Given the description of an element on the screen output the (x, y) to click on. 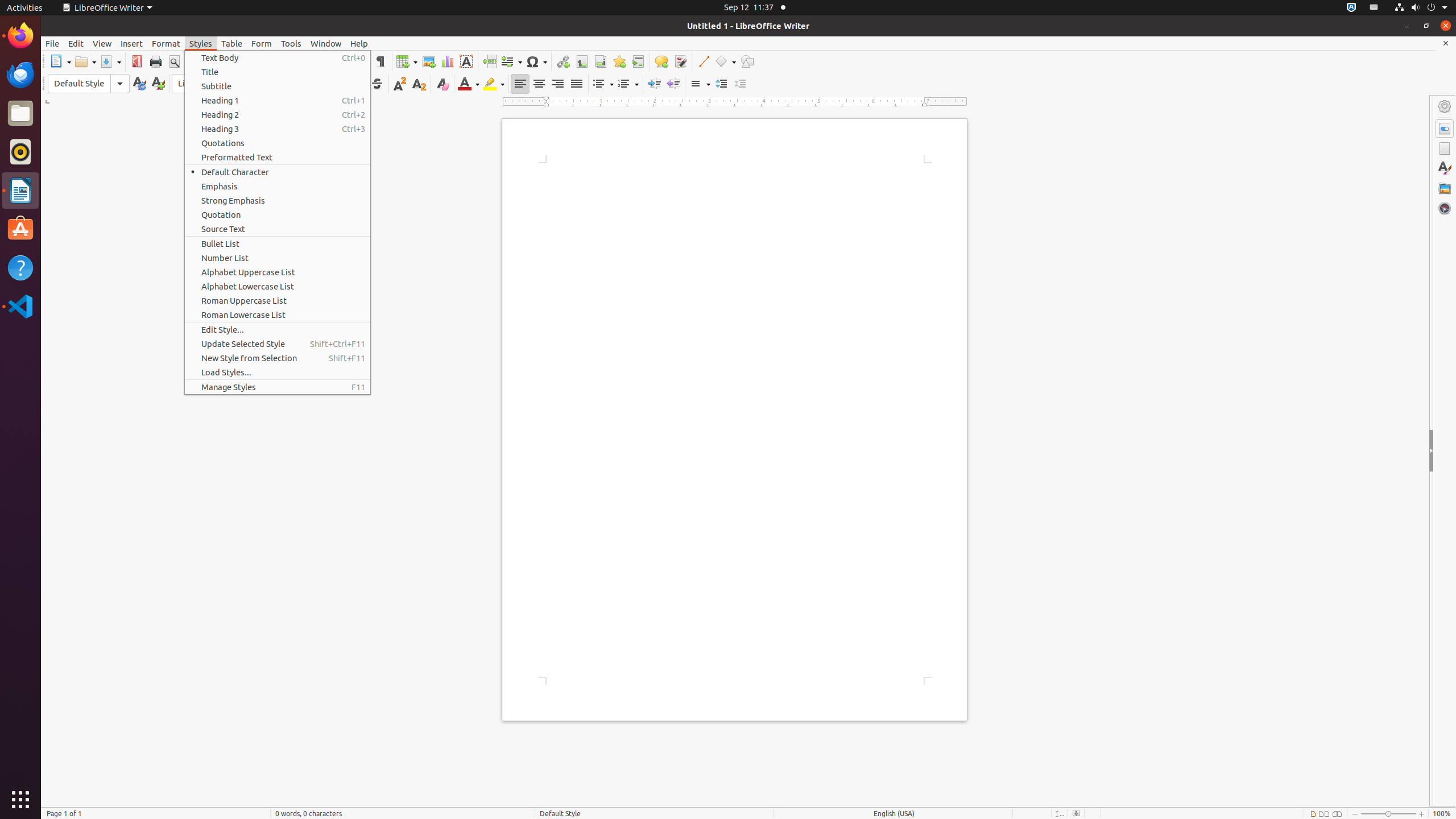
Line Element type: toggle-button (702, 61)
Page Element type: radio-button (1444, 148)
Navigator Element type: radio-button (1444, 208)
Quotations Element type: radio-menu-item (277, 142)
Roman Uppercase List Element type: radio-menu-item (277, 300)
